Given the description of an element on the screen output the (x, y) to click on. 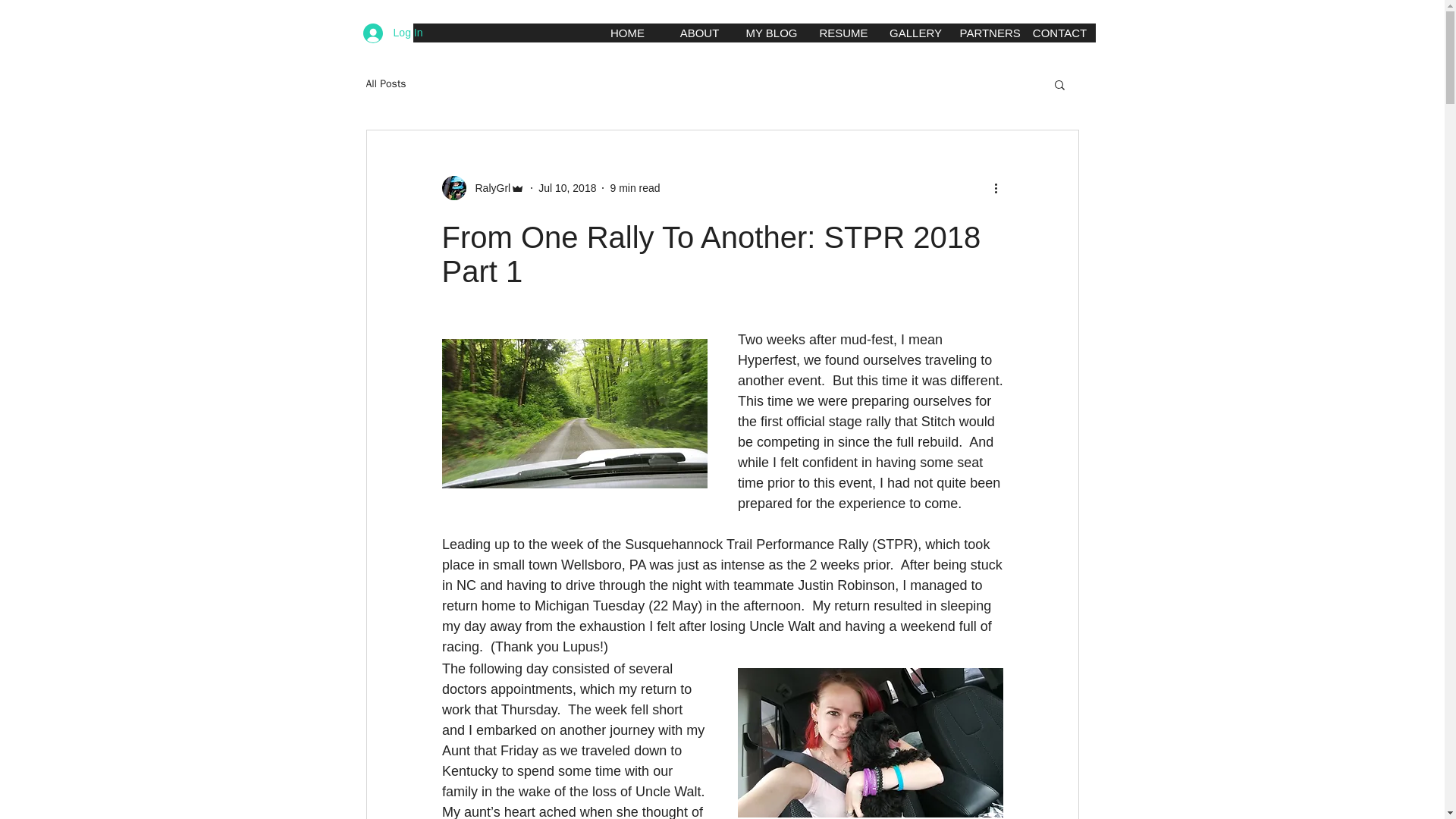
Jul 10, 2018 (566, 187)
CONTACT (1059, 32)
RalyGrl (482, 187)
ABOUT (698, 32)
MY BLOG (771, 32)
HOME (627, 32)
GALLERY (915, 32)
Log In (392, 32)
RalyGrl (488, 188)
9 min read (634, 187)
